Given the description of an element on the screen output the (x, y) to click on. 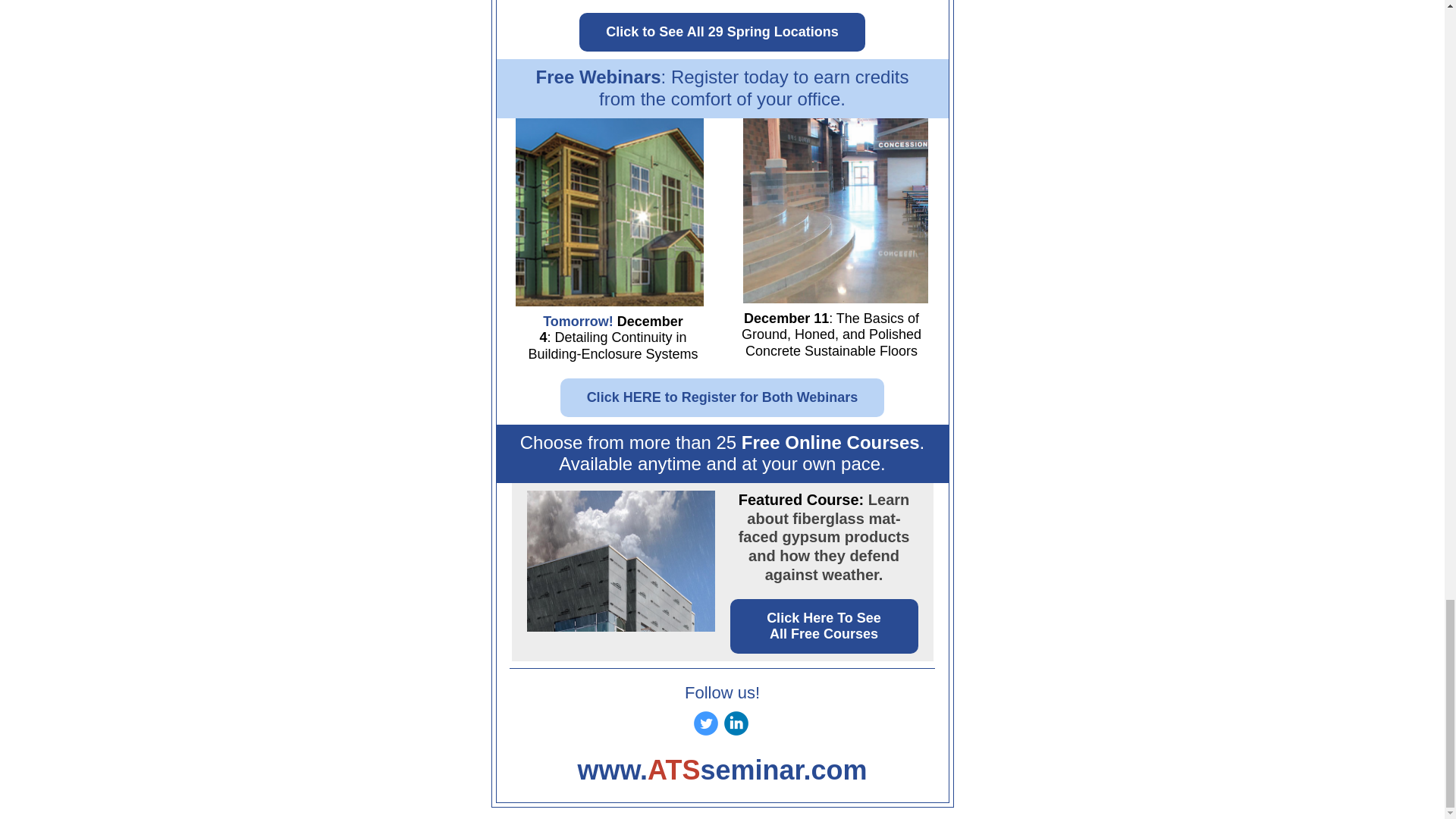
www. (611, 769)
seminar.com (783, 769)
ATS (673, 769)
Click Here To See All Free Courses (824, 626)
Click to See All 29 Spring Locations (721, 32)
Click HERE to Register for Both Webinars (722, 397)
